Given the description of an element on the screen output the (x, y) to click on. 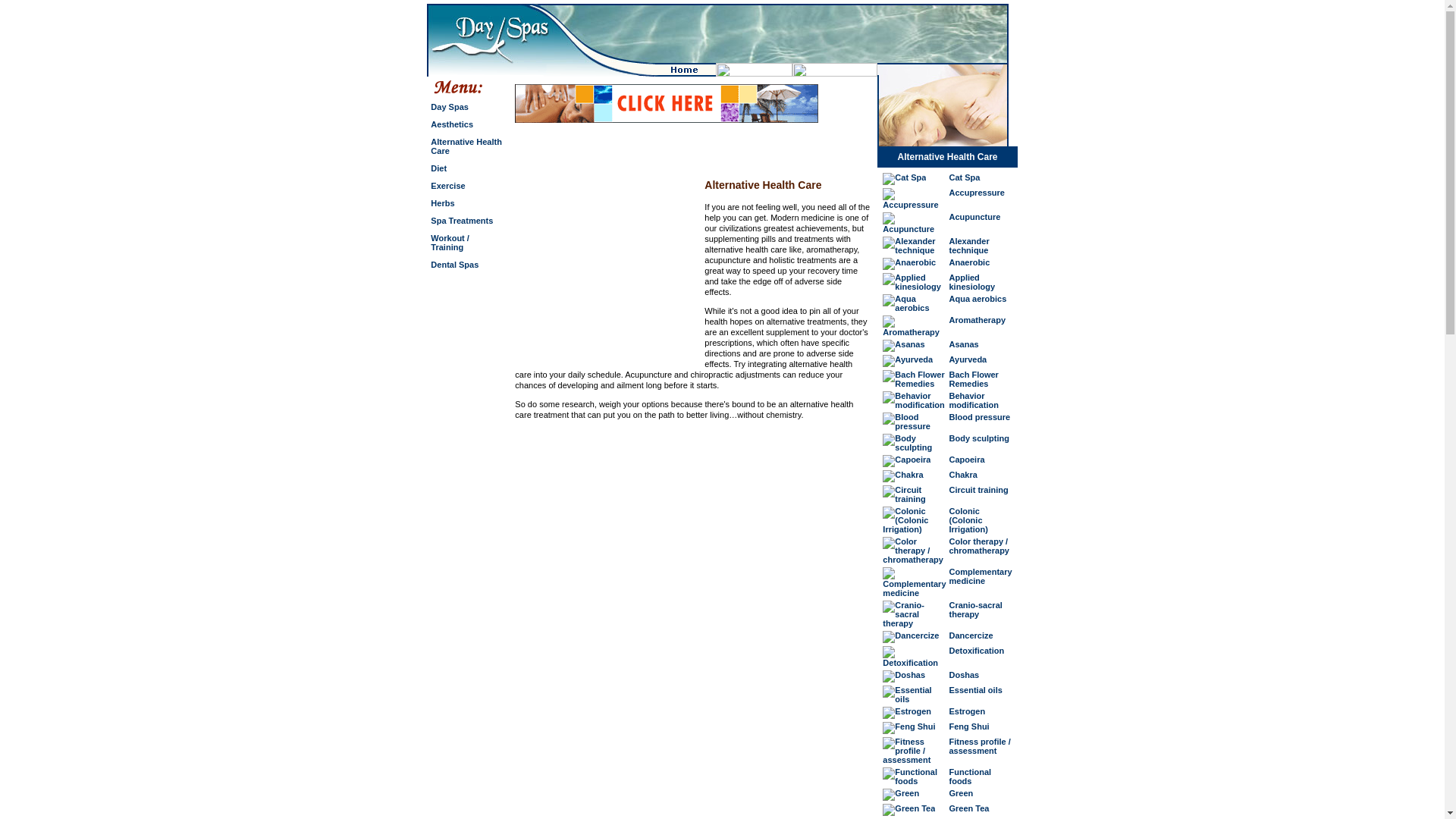
Aesthetics (451, 123)
Acupuncture (975, 216)
Herbs (442, 203)
Dental Spas (454, 264)
Alternative Health Care (466, 146)
Aqua aerobics (978, 298)
Spa Treatments (461, 220)
Behavior modification (973, 400)
Accupressure (976, 192)
Bach Flower Remedies (973, 379)
